Given the description of an element on the screen output the (x, y) to click on. 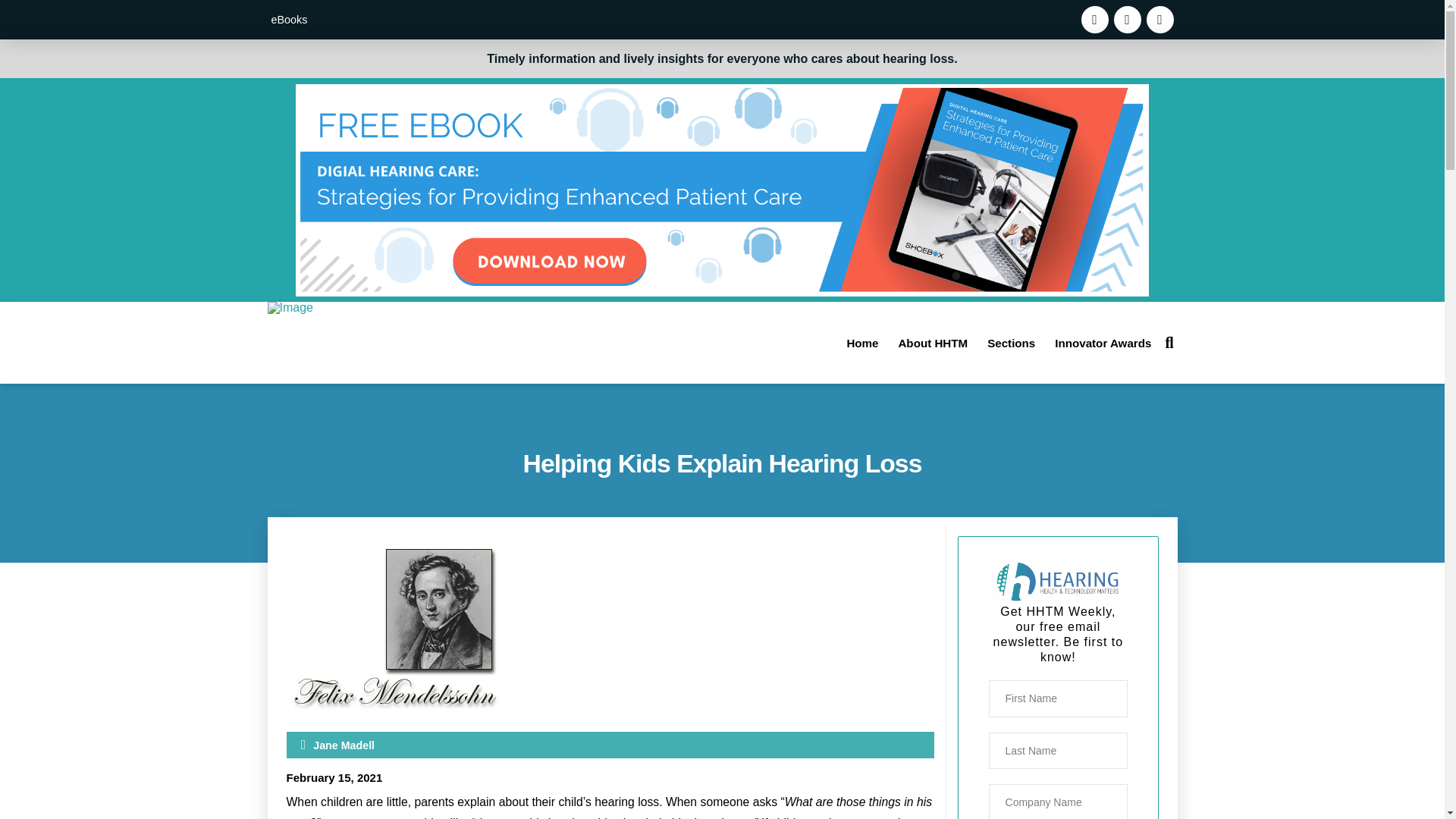
eBooks (288, 19)
About HHTM (932, 342)
Innovator Awards (1102, 342)
Home (861, 342)
Sections (1010, 342)
